Given the description of an element on the screen output the (x, y) to click on. 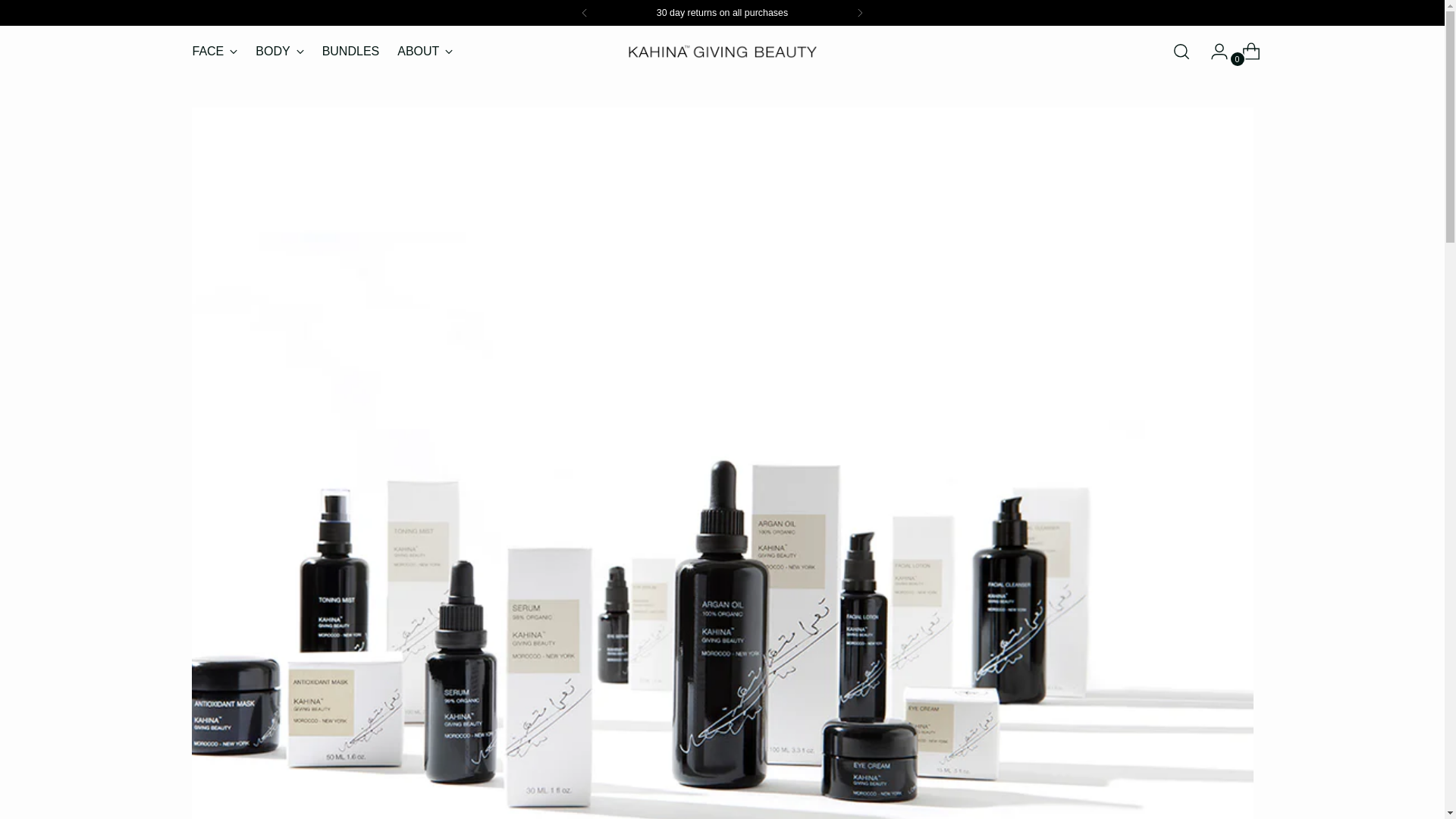
BODY (279, 51)
0 (1245, 51)
Next (859, 12)
FACE (215, 51)
BUNDLES (350, 51)
Previous (584, 12)
ABOUT (321, 50)
